Given the description of an element on the screen output the (x, y) to click on. 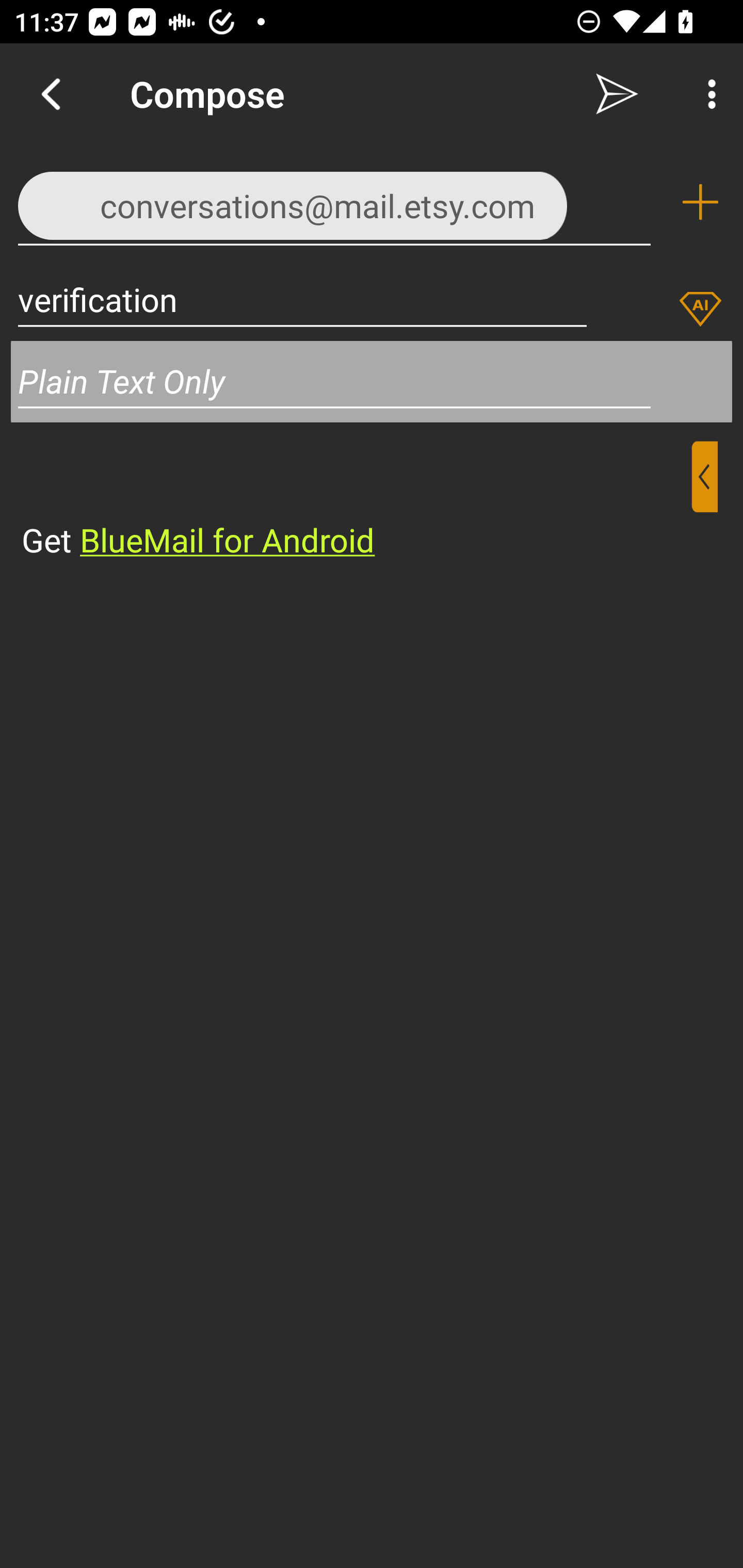
Navigate up (50, 93)
Send (616, 93)
More Options (706, 93)
<conversations@mail.etsy.com>,  (334, 201)
Add recipient (To) (699, 201)
verification (302, 299)
Plain Text Only (371, 380)


⁣Get BlueMail for Android ​ (355, 501)
